Given the description of an element on the screen output the (x, y) to click on. 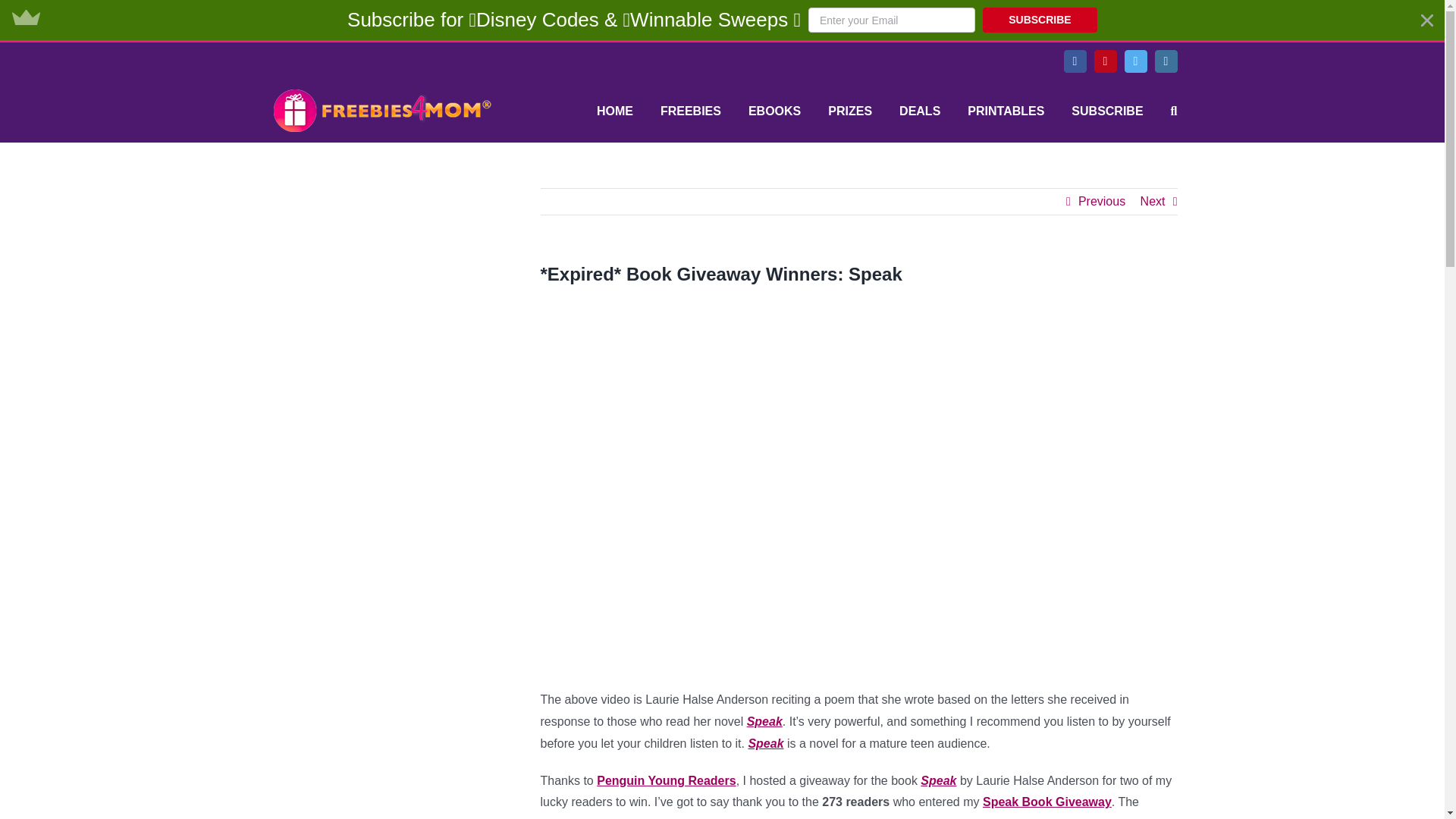
FREEBIES (690, 111)
Facebook (1074, 60)
Pinterest (1104, 60)
SUBSCRIBE (1039, 19)
PRINTABLES (1005, 111)
Twitter (1135, 60)
Instagram (1165, 60)
